Given the description of an element on the screen output the (x, y) to click on. 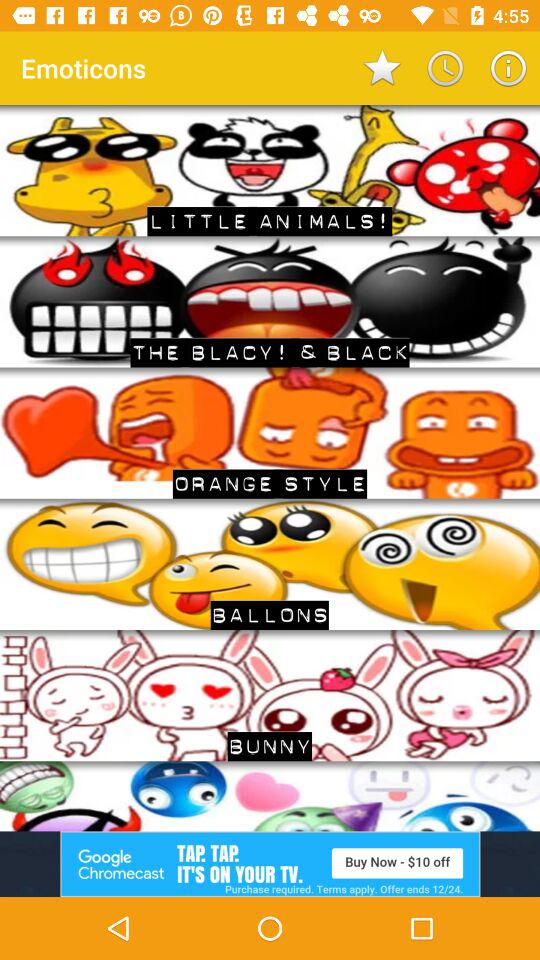
click to buy (270, 864)
